Given the description of an element on the screen output the (x, y) to click on. 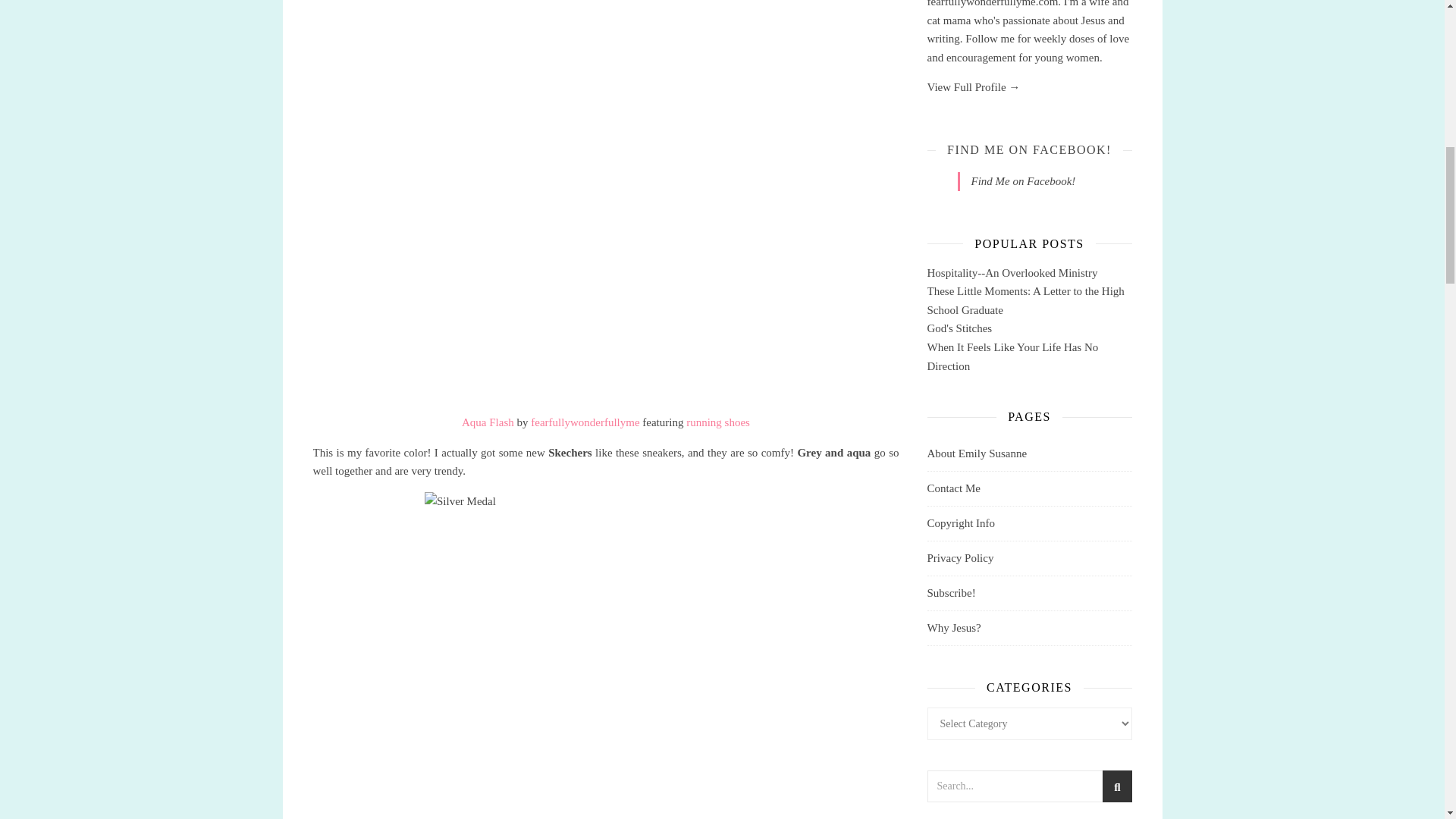
Aqua Flash (487, 422)
fearfullywonderfullyme (585, 422)
running shoes (717, 422)
